Given the description of an element on the screen output the (x, y) to click on. 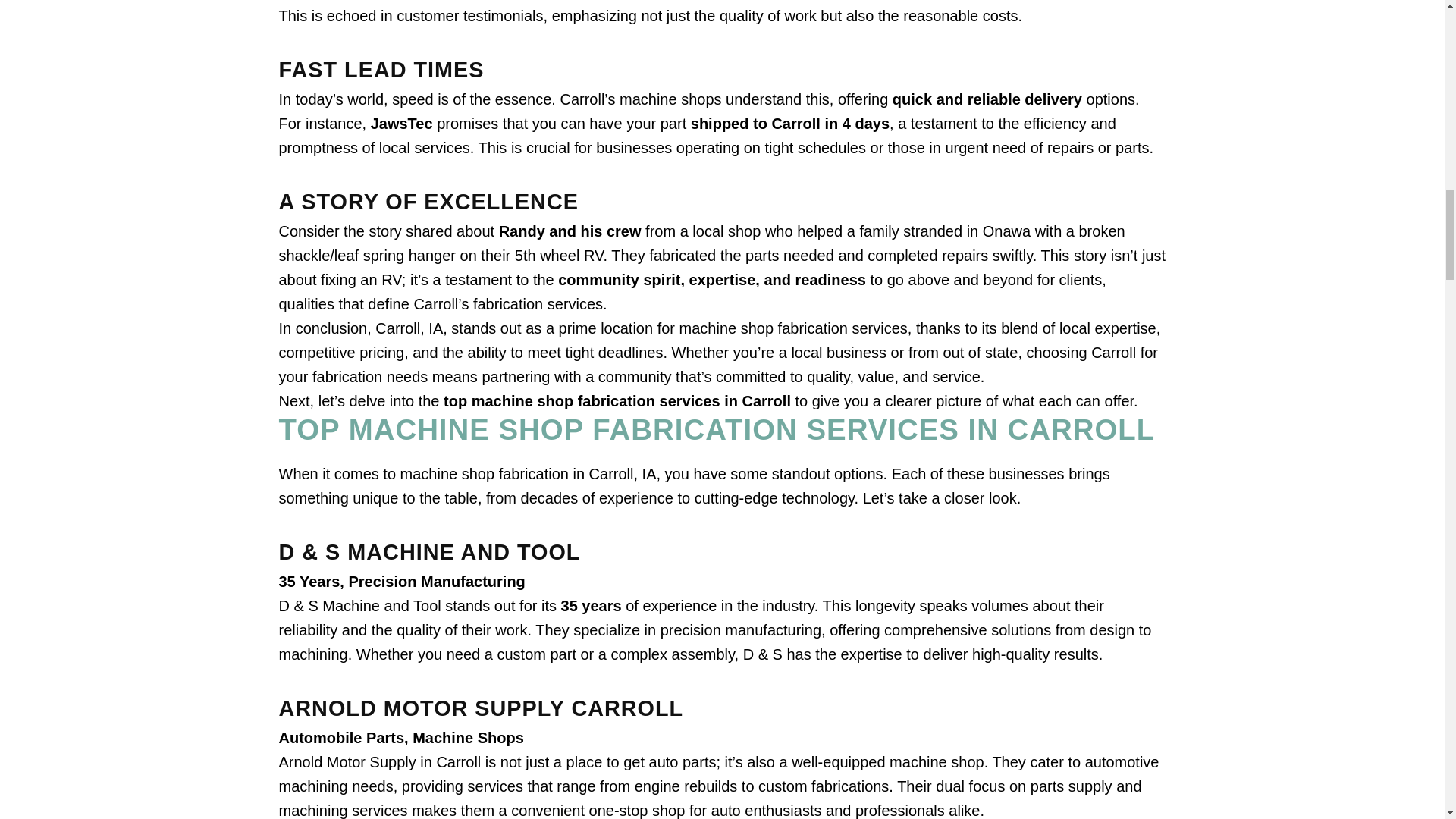
community spirit, expertise, and readiness (711, 279)
